Given the description of an element on the screen output the (x, y) to click on. 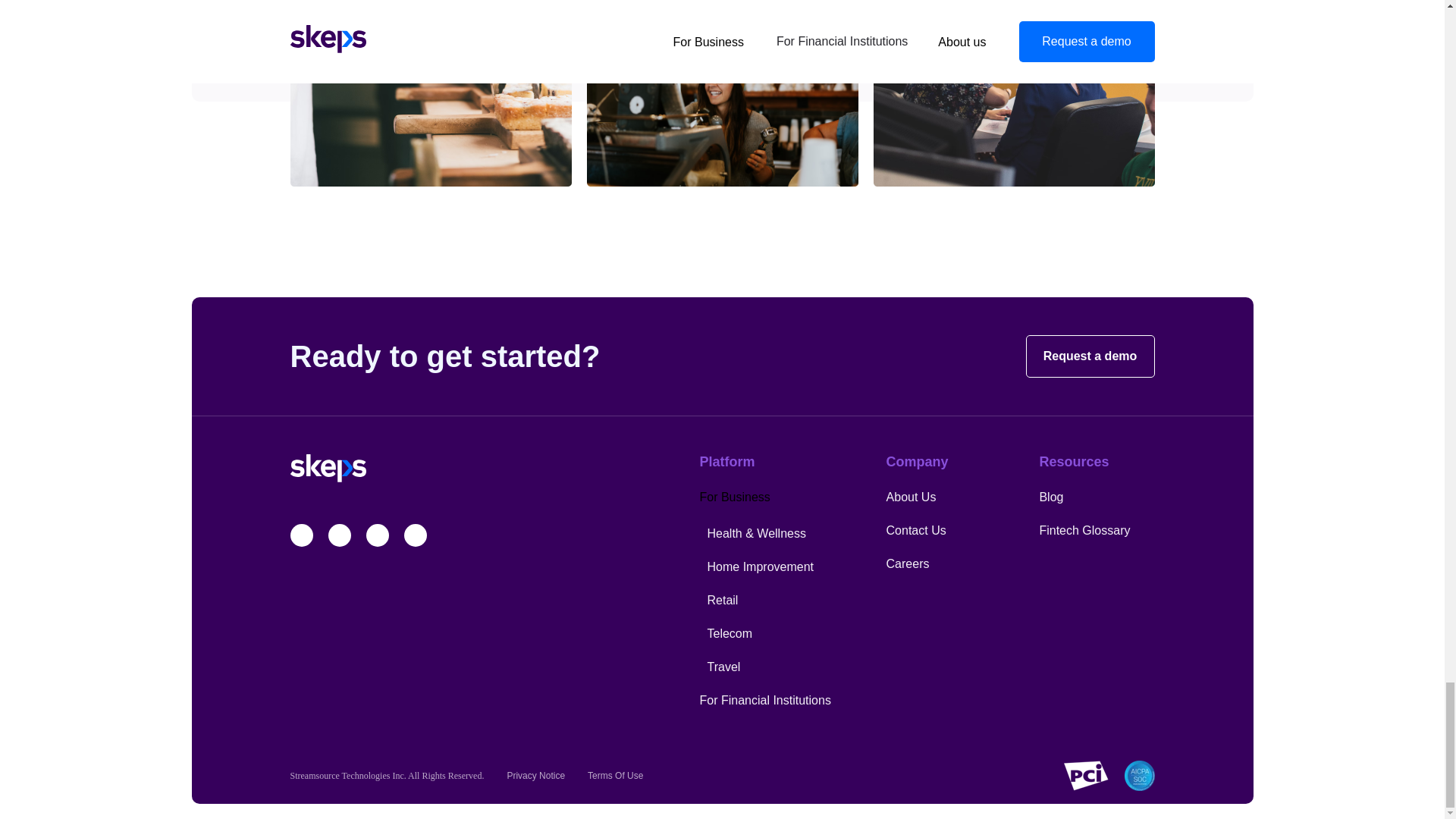
Terms Of Use (615, 775)
Contact Us (916, 530)
About Us (911, 496)
For Financial Institutions (763, 699)
For Business (734, 496)
Retail (722, 599)
Home Improvement (759, 566)
Travel (722, 666)
Telecom (729, 633)
Careers (908, 563)
Blog (1050, 496)
Privacy Notice (535, 775)
